Given the description of an element on the screen output the (x, y) to click on. 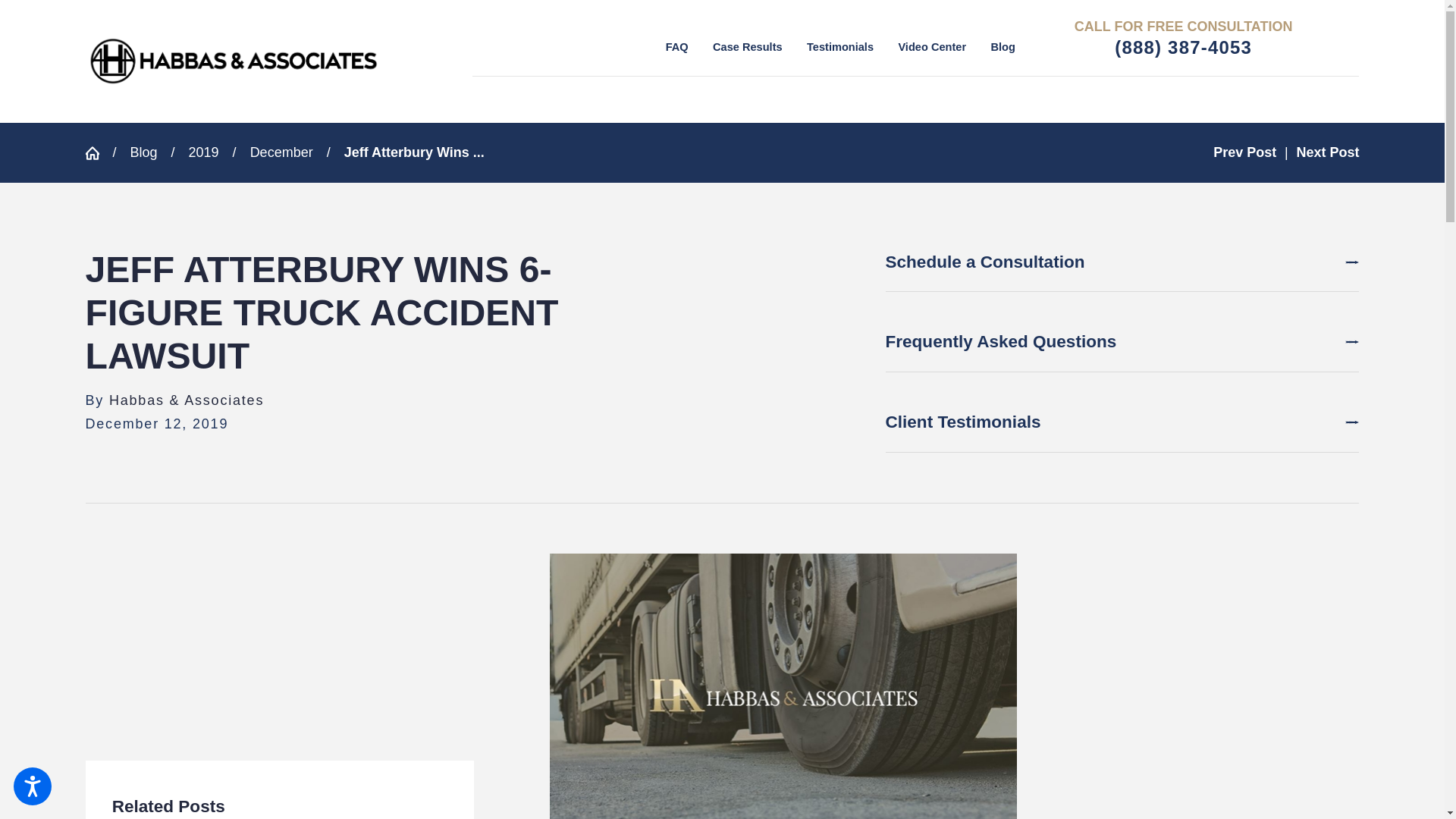
Video Center (932, 46)
Case Results (748, 46)
Testimonials (839, 46)
Open the accessibility options menu (31, 786)
Go Home (98, 152)
FAQ (676, 46)
Blog (1002, 46)
